Given the description of an element on the screen output the (x, y) to click on. 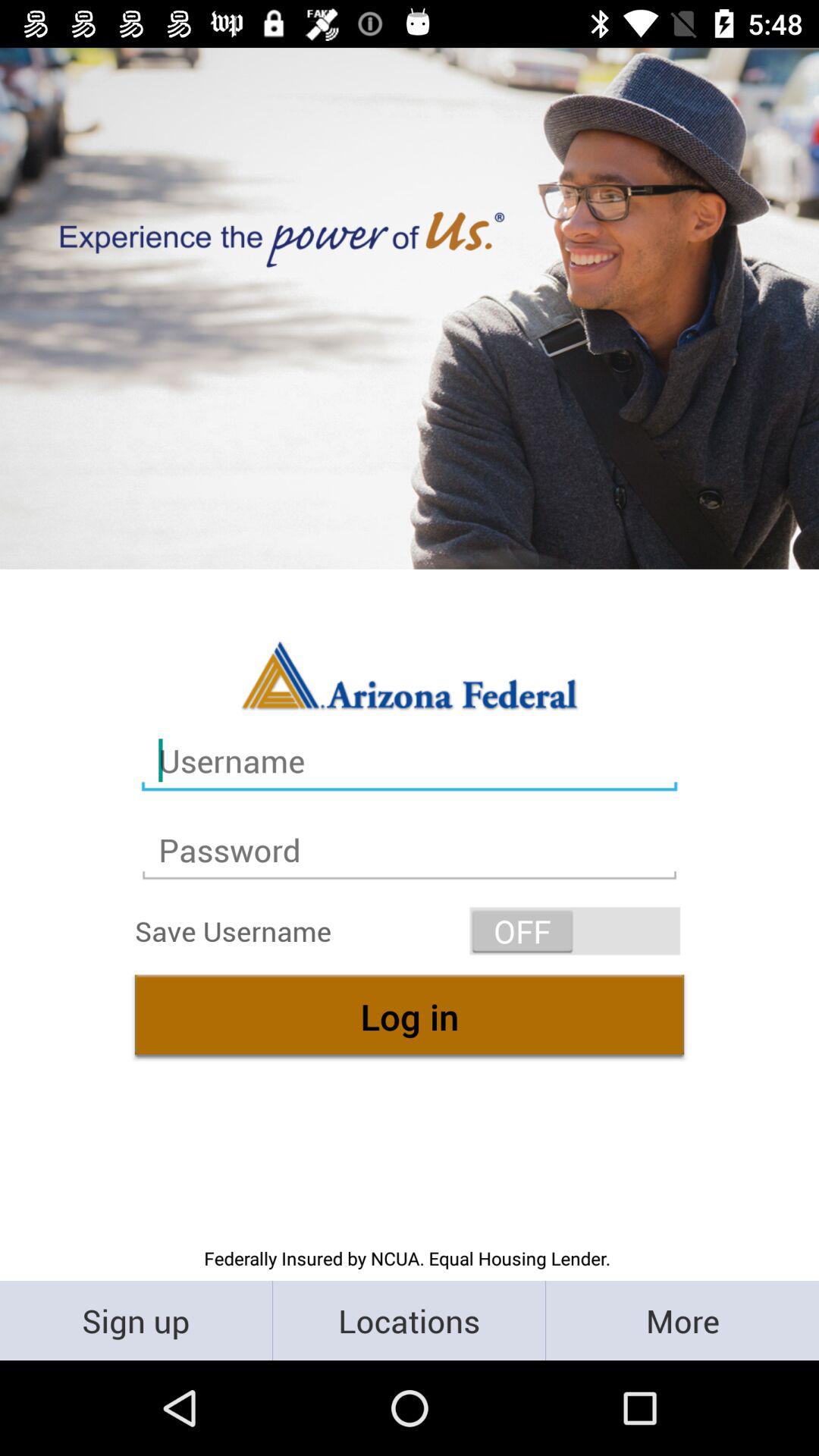
choose the item next to the sign up (409, 1320)
